Given the description of an element on the screen output the (x, y) to click on. 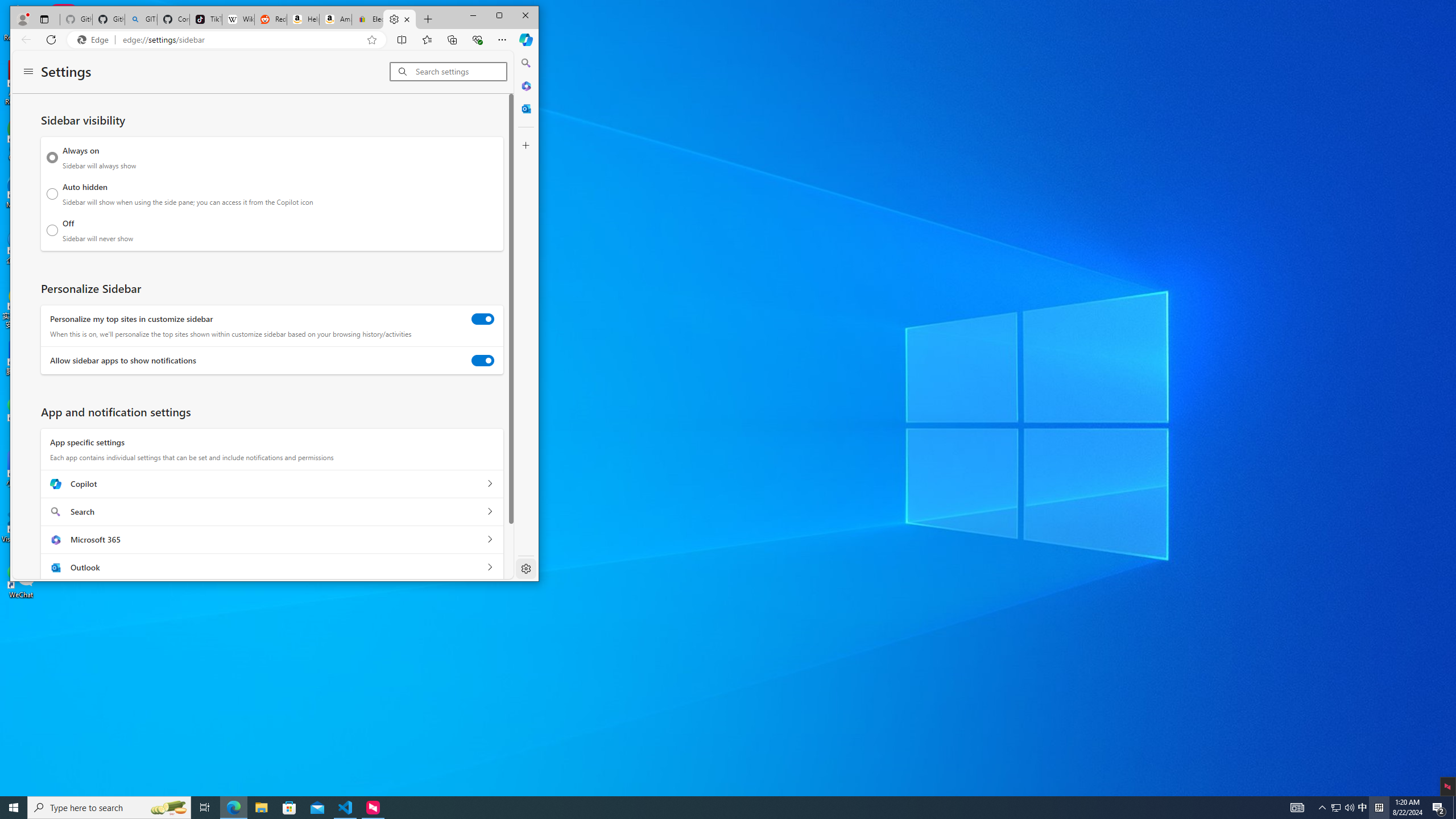
Allow sidebar apps to show notifications (482, 360)
Edge (94, 39)
